Given the description of an element on the screen output the (x, y) to click on. 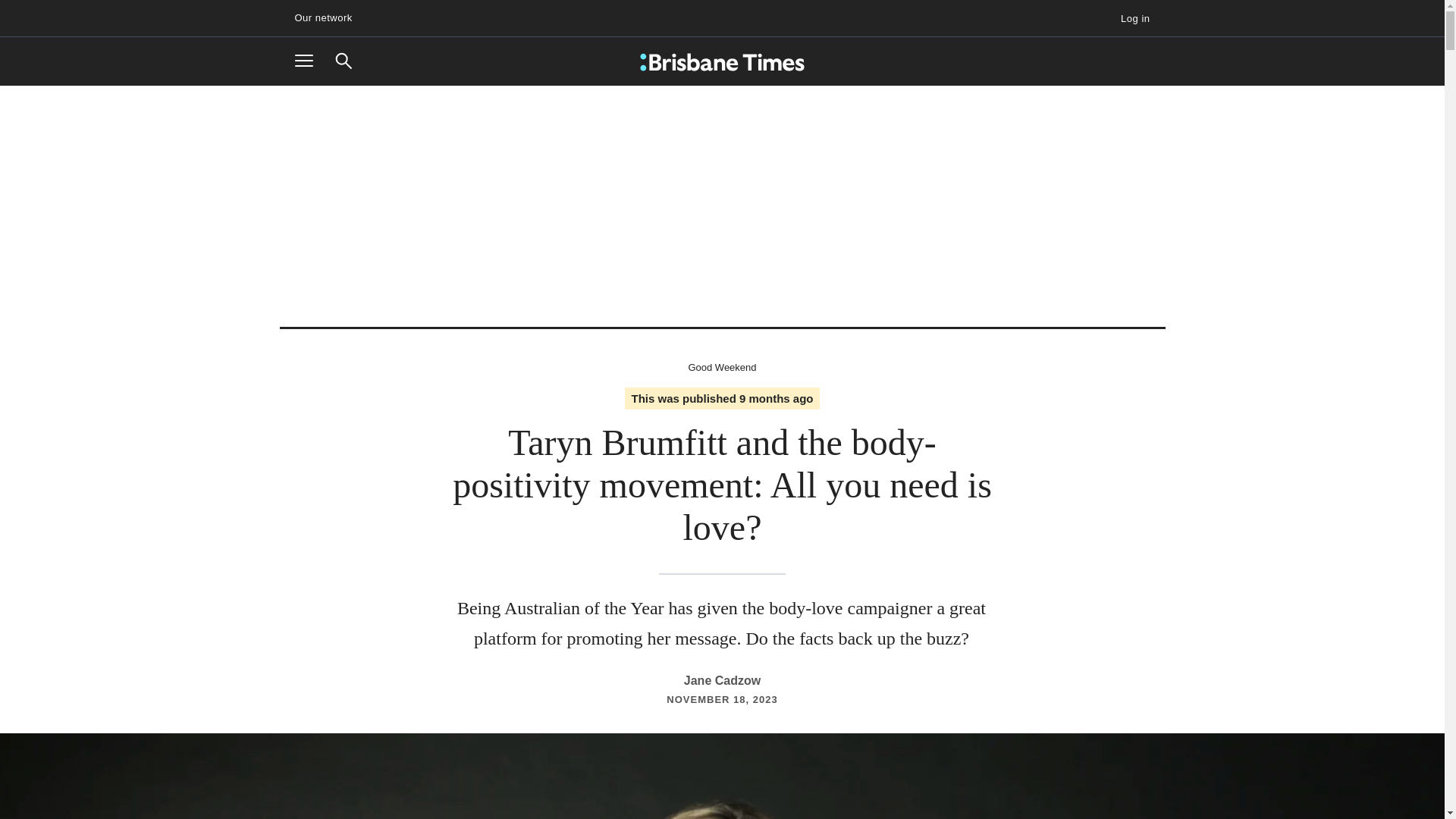
Brisbane Times (722, 61)
Good Weekend (721, 367)
Our network (329, 17)
Articles by Jane Cadzow (722, 680)
Log in (1129, 17)
